Given the description of an element on the screen output the (x, y) to click on. 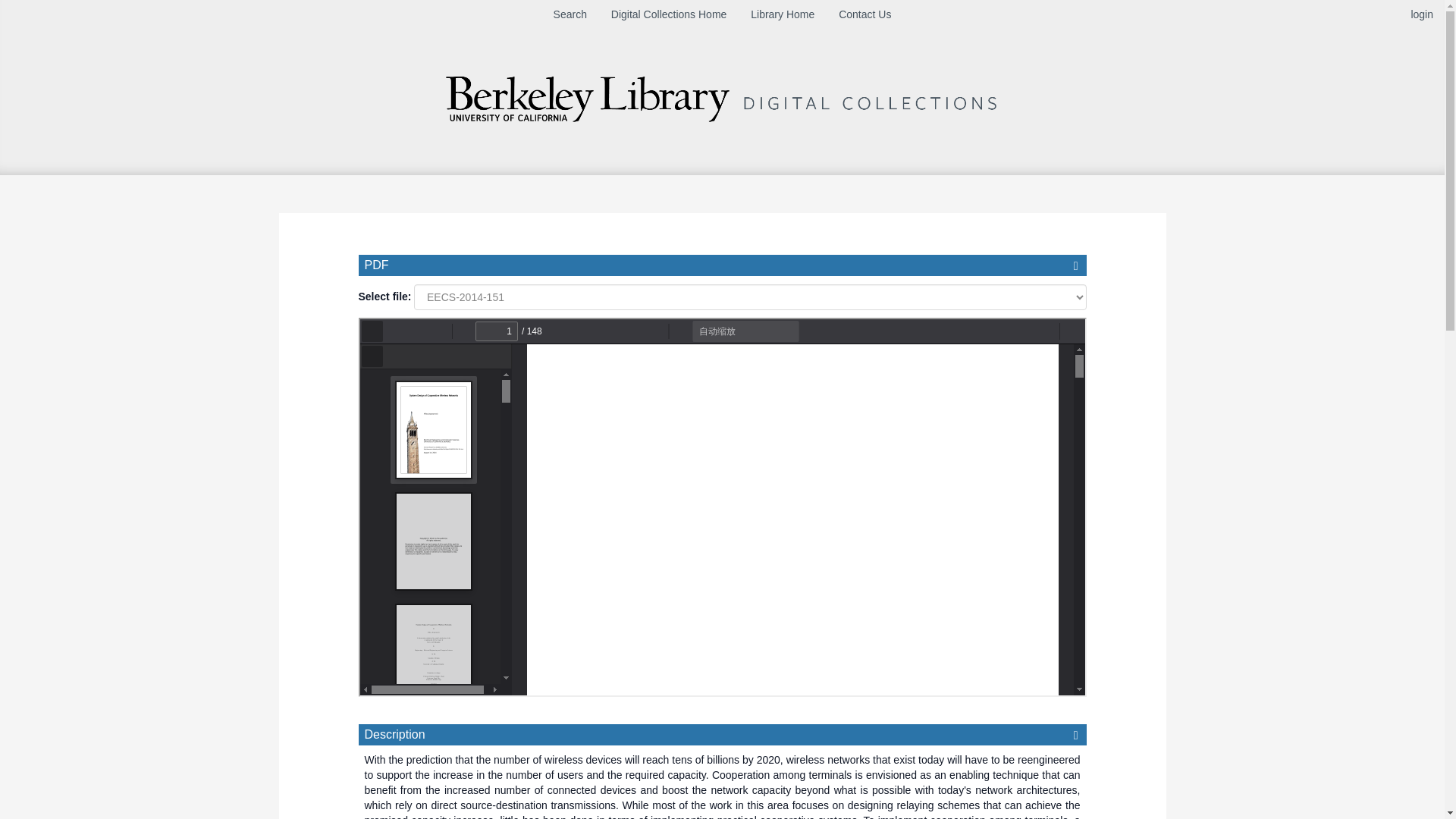
Contact Us (864, 14)
Search (569, 14)
Library Home (782, 14)
Digital Collections Home (668, 14)
EECS-2014-151 (749, 296)
login (1421, 14)
